Given the description of an element on the screen output the (x, y) to click on. 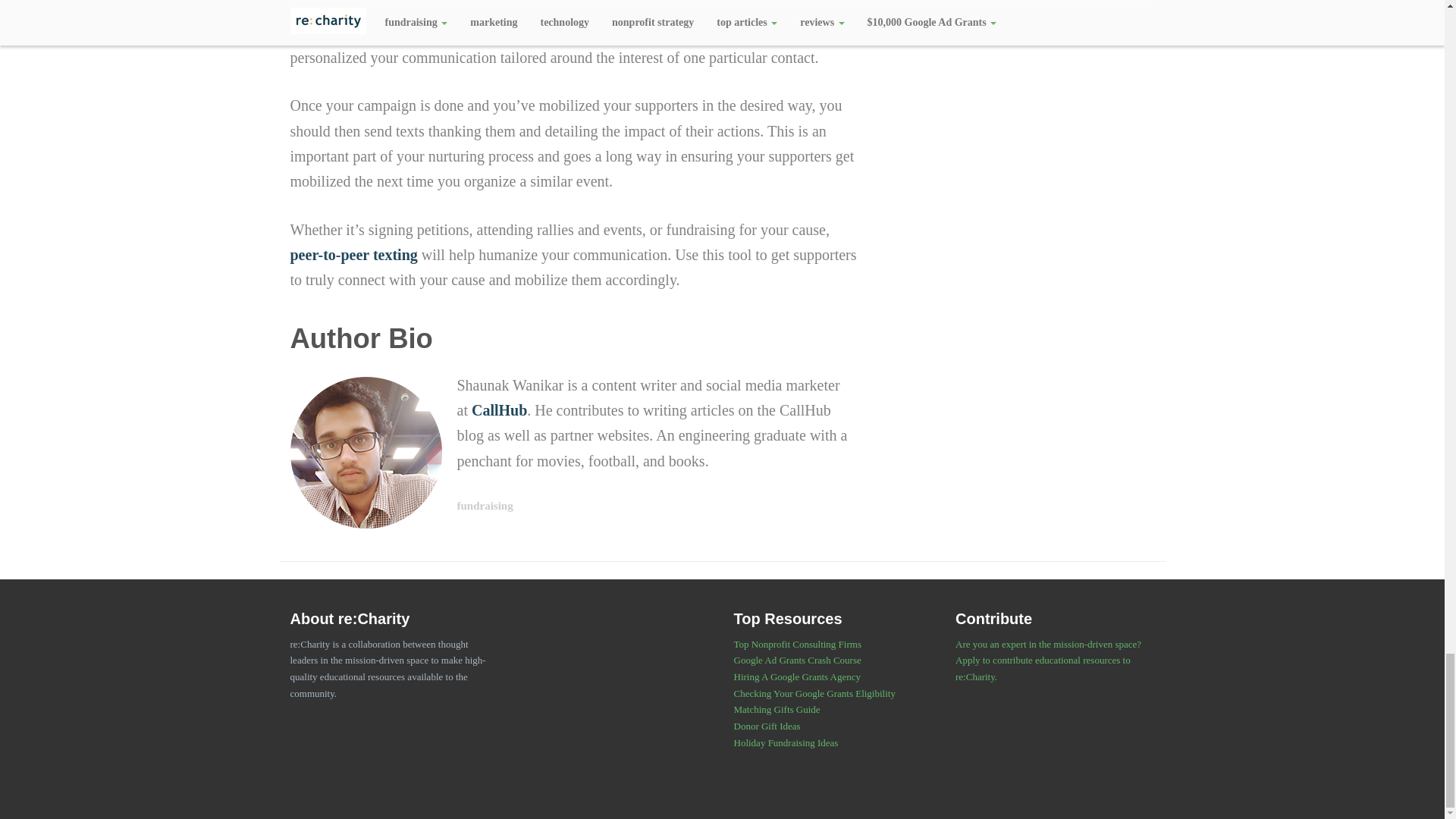
fundraising (484, 505)
CallHub (499, 410)
peer-to-peer texting (352, 254)
